Given the description of an element on the screen output the (x, y) to click on. 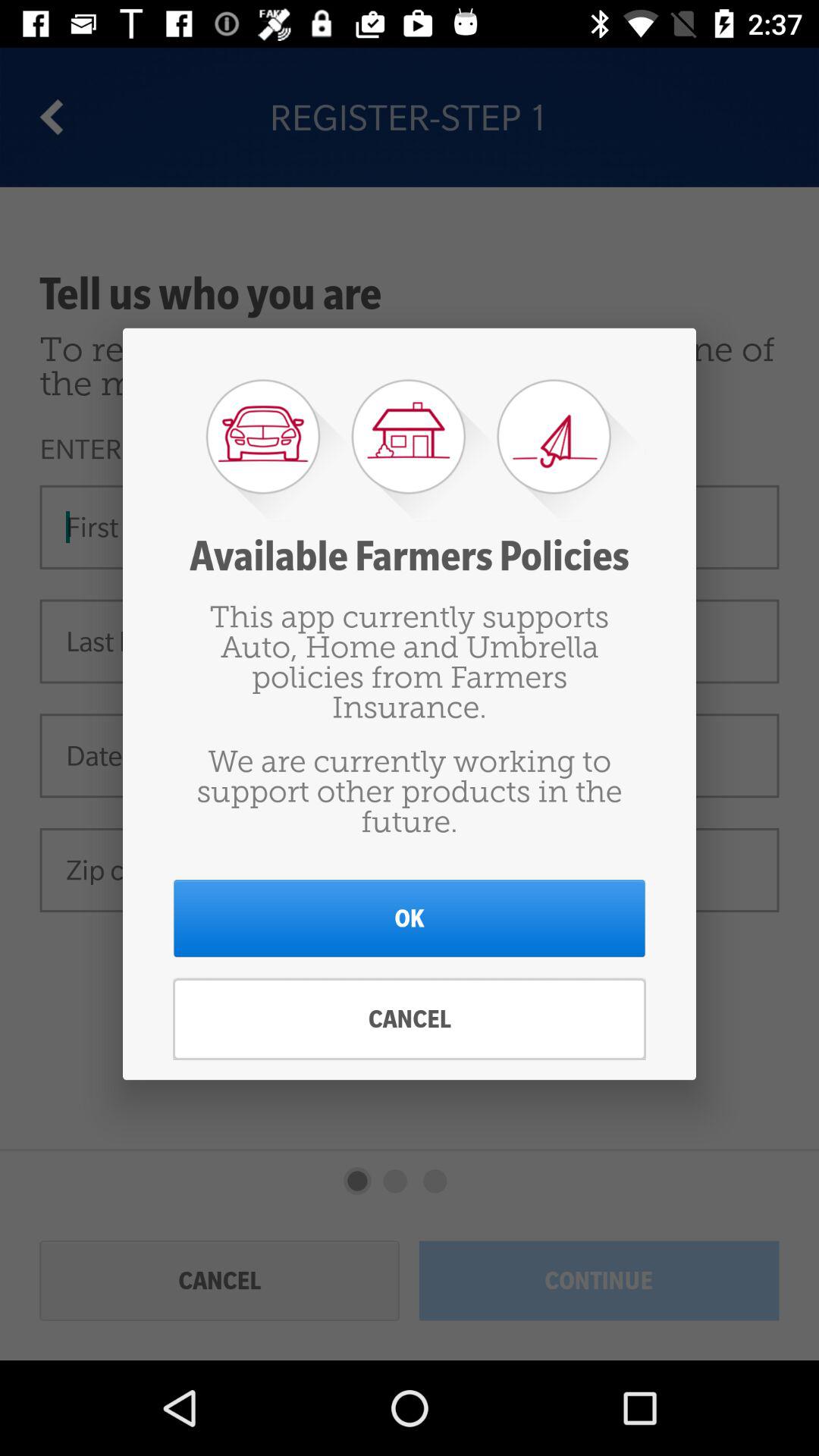
launch cancel at the bottom (409, 1019)
